Given the description of an element on the screen output the (x, y) to click on. 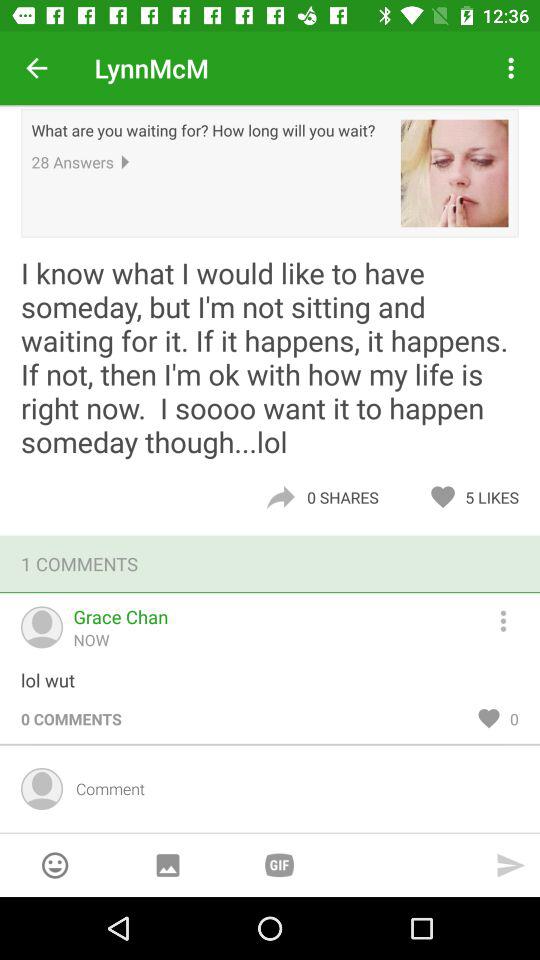
comment input field (290, 788)
